Given the description of an element on the screen output the (x, y) to click on. 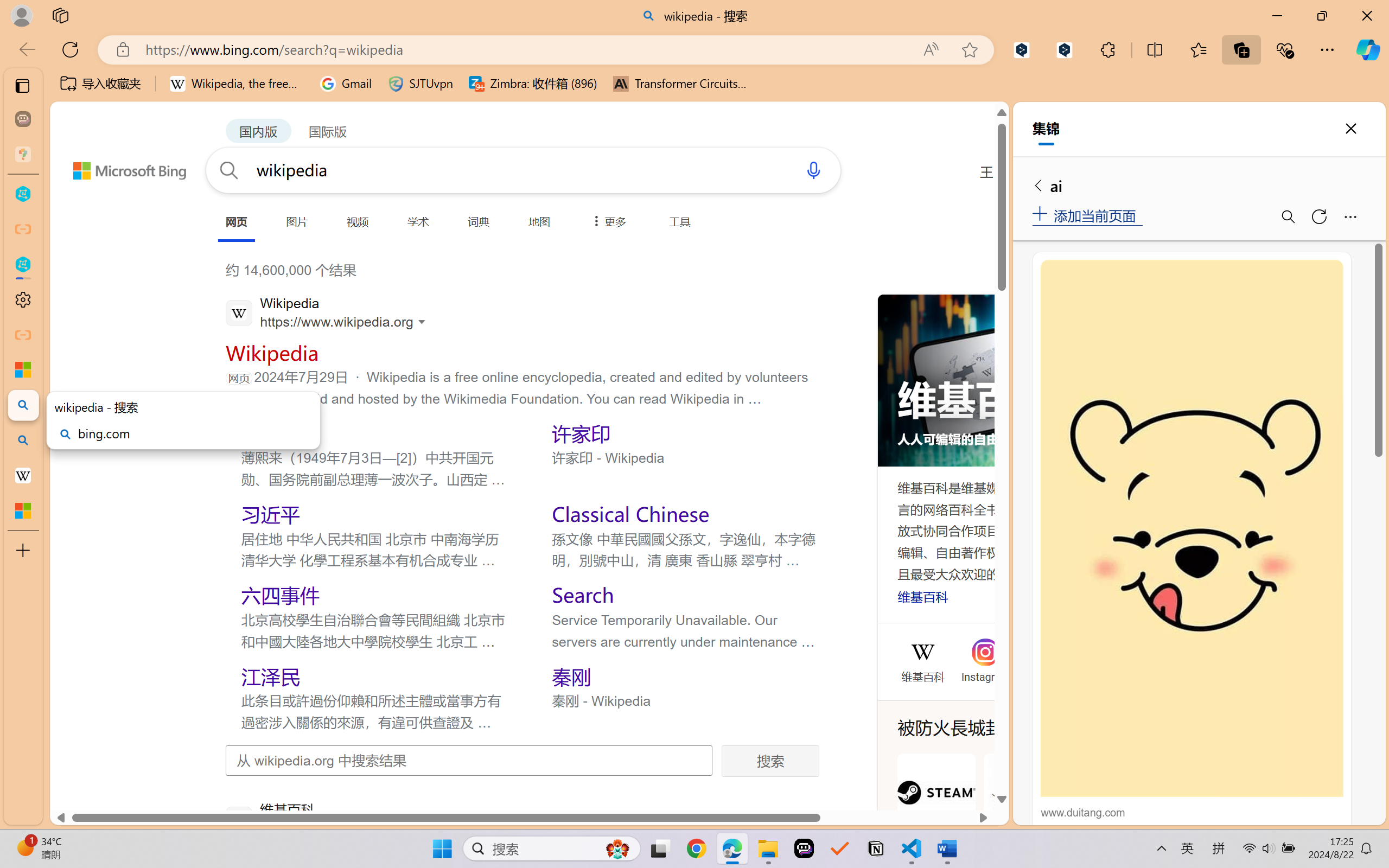
Gmail (345, 83)
Instagram (985, 674)
SJTUvpn (419, 83)
Steam (936, 805)
Wikipedia, the free encyclopedia (236, 83)
